Given the description of an element on the screen output the (x, y) to click on. 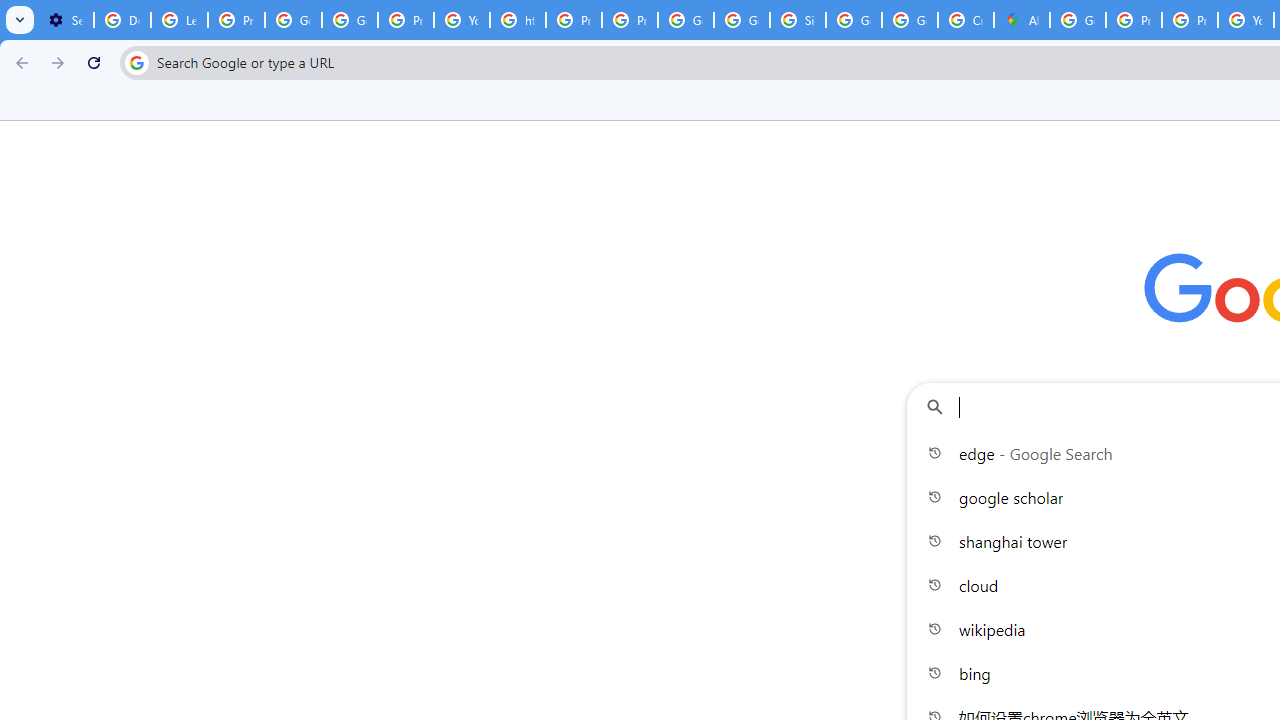
Privacy Help Center - Policies Help (573, 20)
Settings - Performance (65, 20)
Privacy Help Center - Policies Help (1133, 20)
https://scholar.google.com/ (518, 20)
Sign in - Google Accounts (797, 20)
YouTube (461, 20)
